Given the description of an element on the screen output the (x, y) to click on. 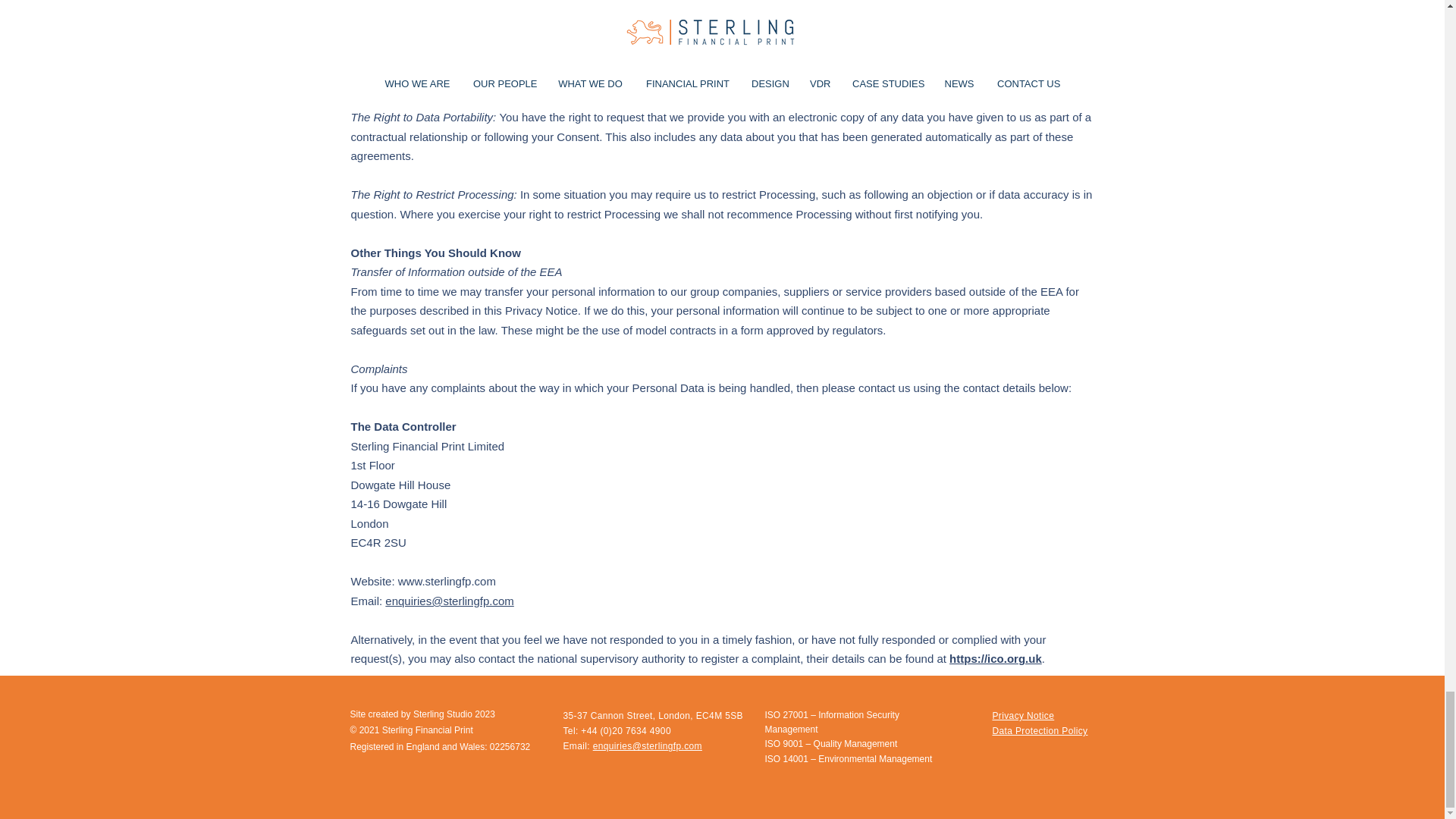
www.sterlingfp.com (446, 581)
Data Protection Policy (1039, 730)
Privacy Notice (1022, 715)
